Given the description of an element on the screen output the (x, y) to click on. 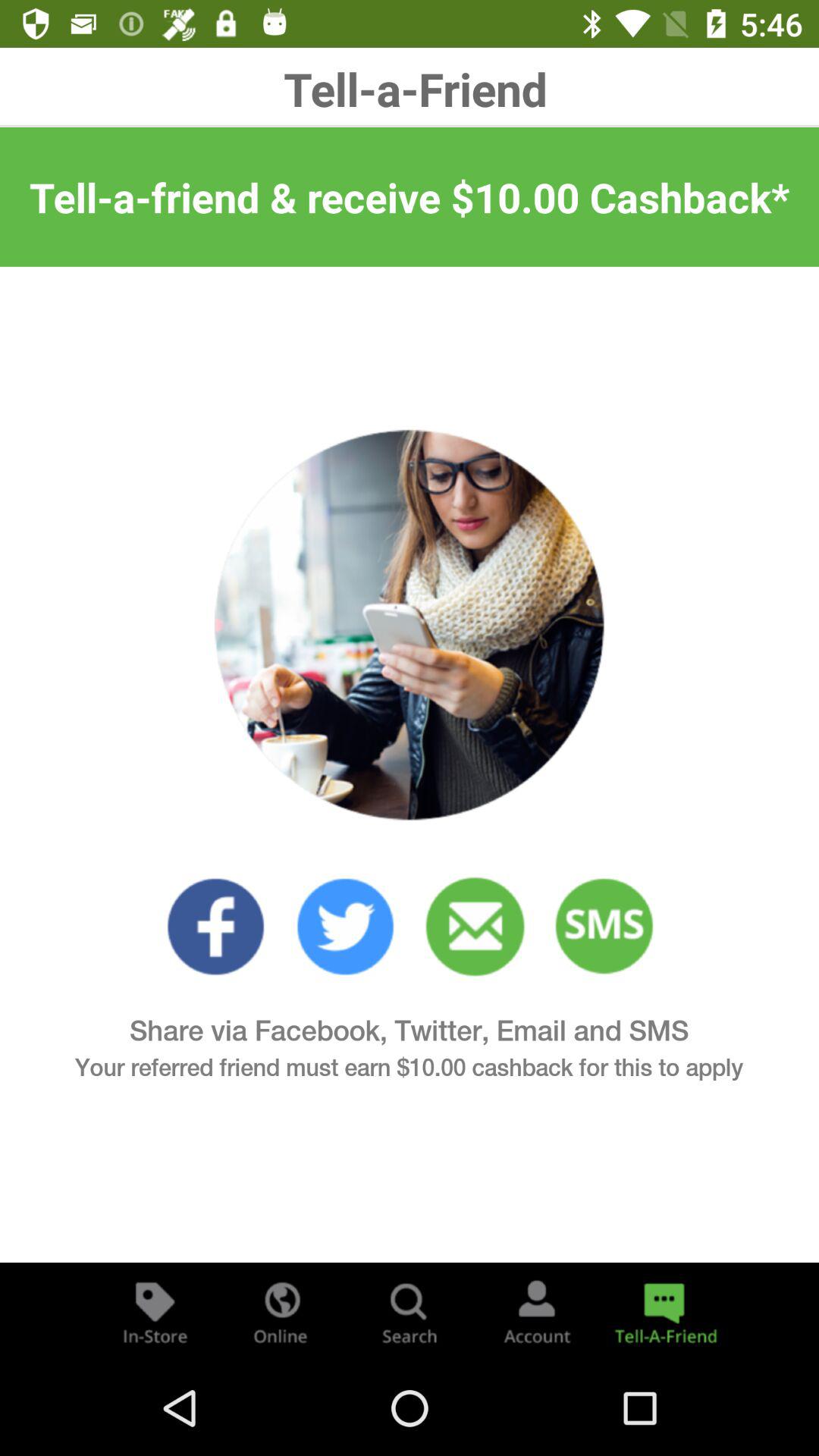
share the app (664, 1311)
